Given the description of an element on the screen output the (x, y) to click on. 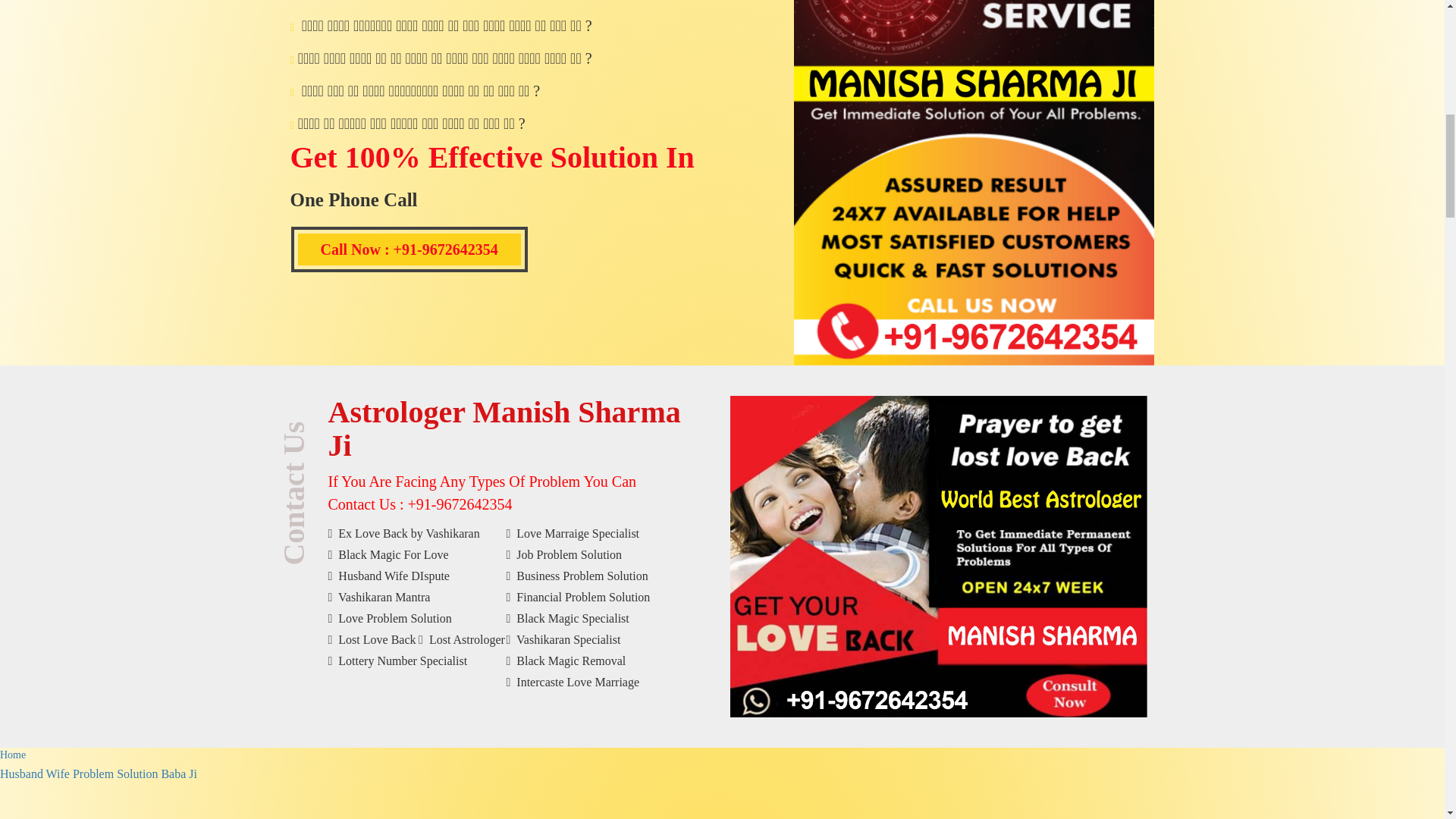
Home (13, 754)
Husband Wife Problem Solution Baba Ji (98, 773)
